Given the description of an element on the screen output the (x, y) to click on. 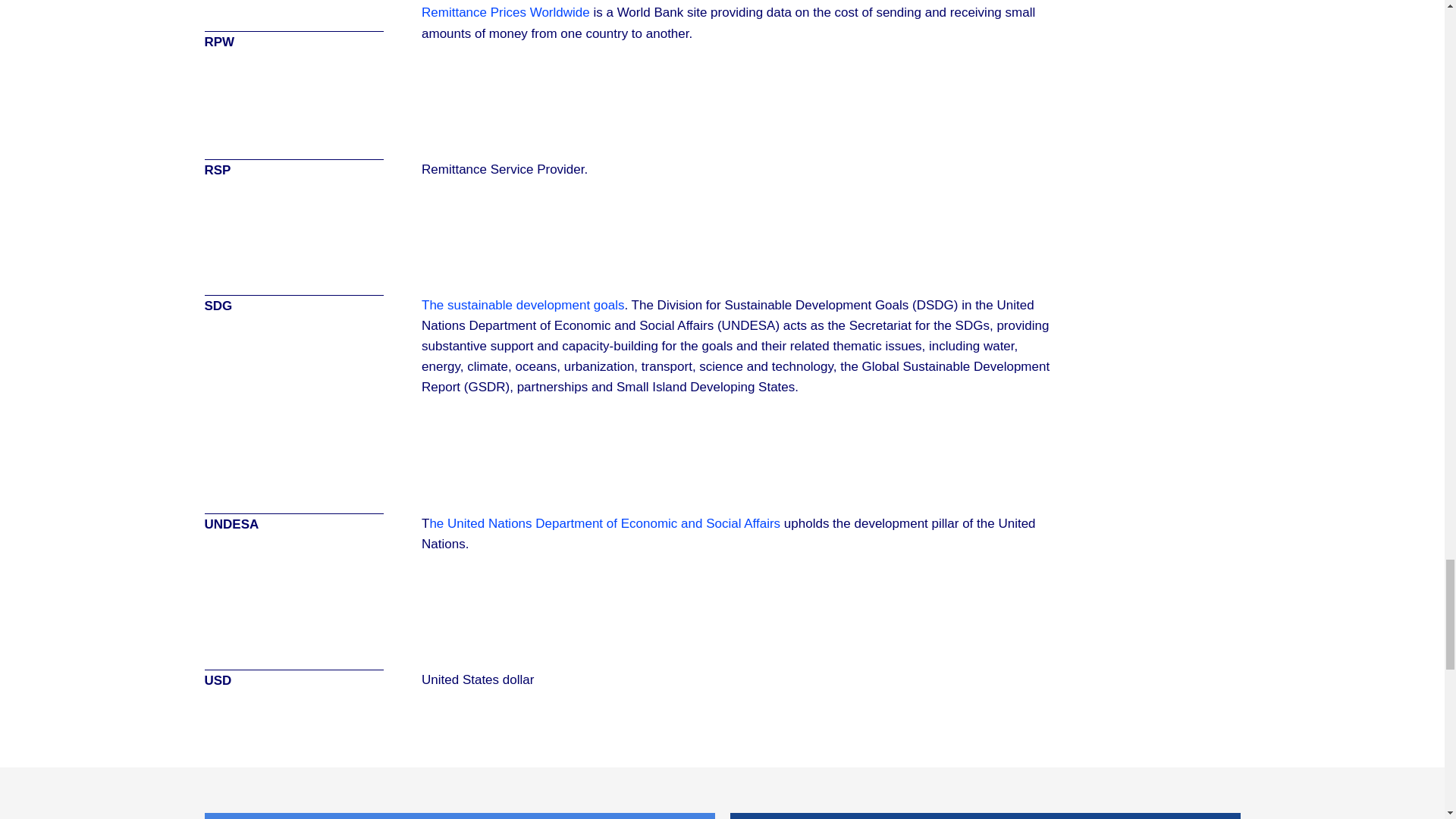
The sustainable development goals (523, 305)
he United Nations Department of Economic and Social Affairs (604, 523)
Remittance Prices Worldwide (505, 11)
